Given the description of an element on the screen output the (x, y) to click on. 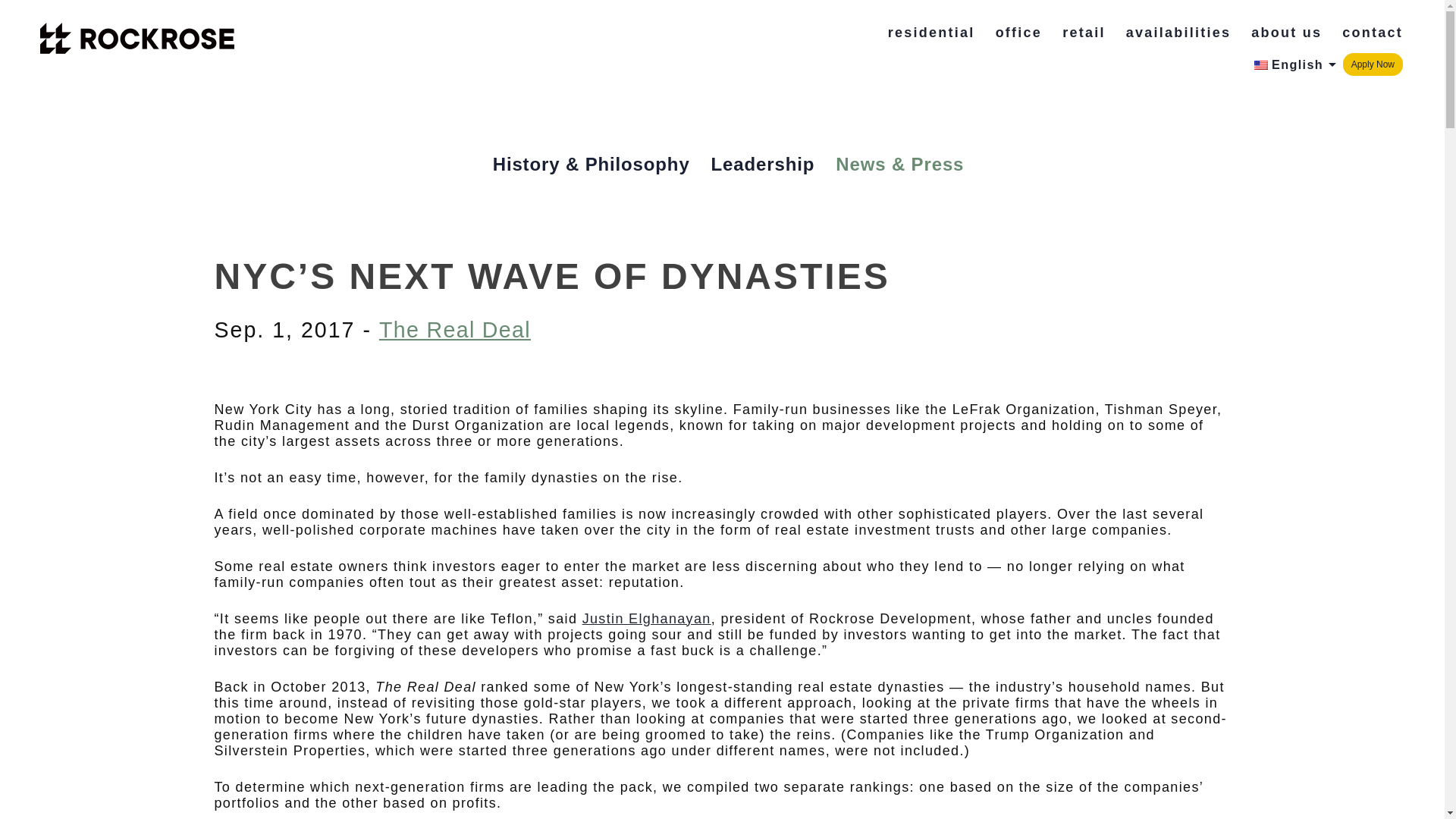
availabilities (1178, 32)
about us (1286, 32)
Leadership (763, 163)
English (1260, 64)
Apply Now (1372, 64)
The Real Deal (454, 328)
contact (1372, 32)
residential (931, 32)
Rockrose homepage (137, 39)
office (1018, 32)
retail (1083, 32)
